Given the description of an element on the screen output the (x, y) to click on. 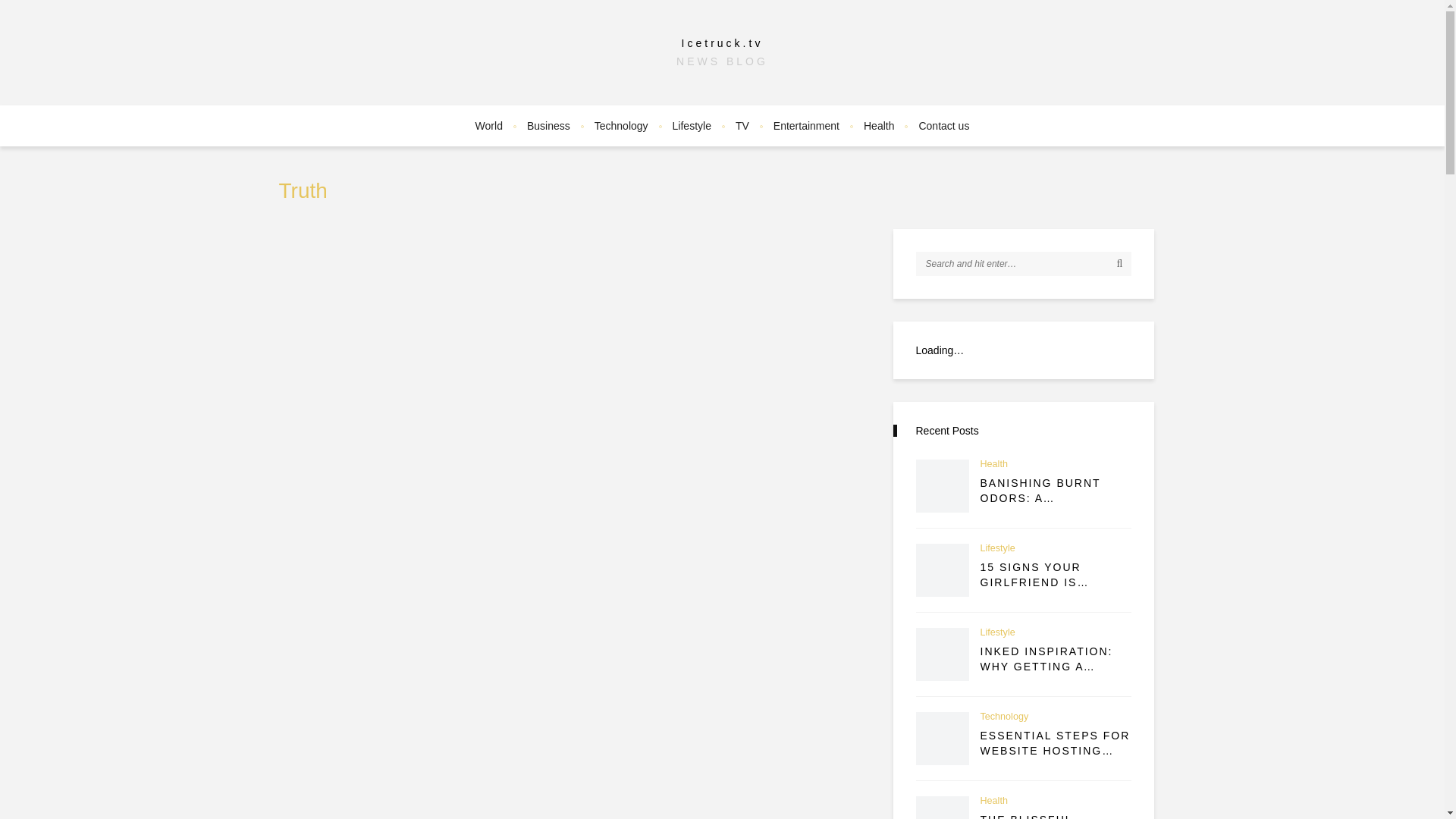
Lifestyle (996, 548)
World (488, 125)
Icetruck.tv (721, 42)
Business (548, 125)
15 Signs Your Girlfriend Is Falling in Love With You (942, 570)
Search for: (1023, 263)
Technology (621, 125)
Lifestyle (692, 125)
Health (993, 464)
